Given the description of an element on the screen output the (x, y) to click on. 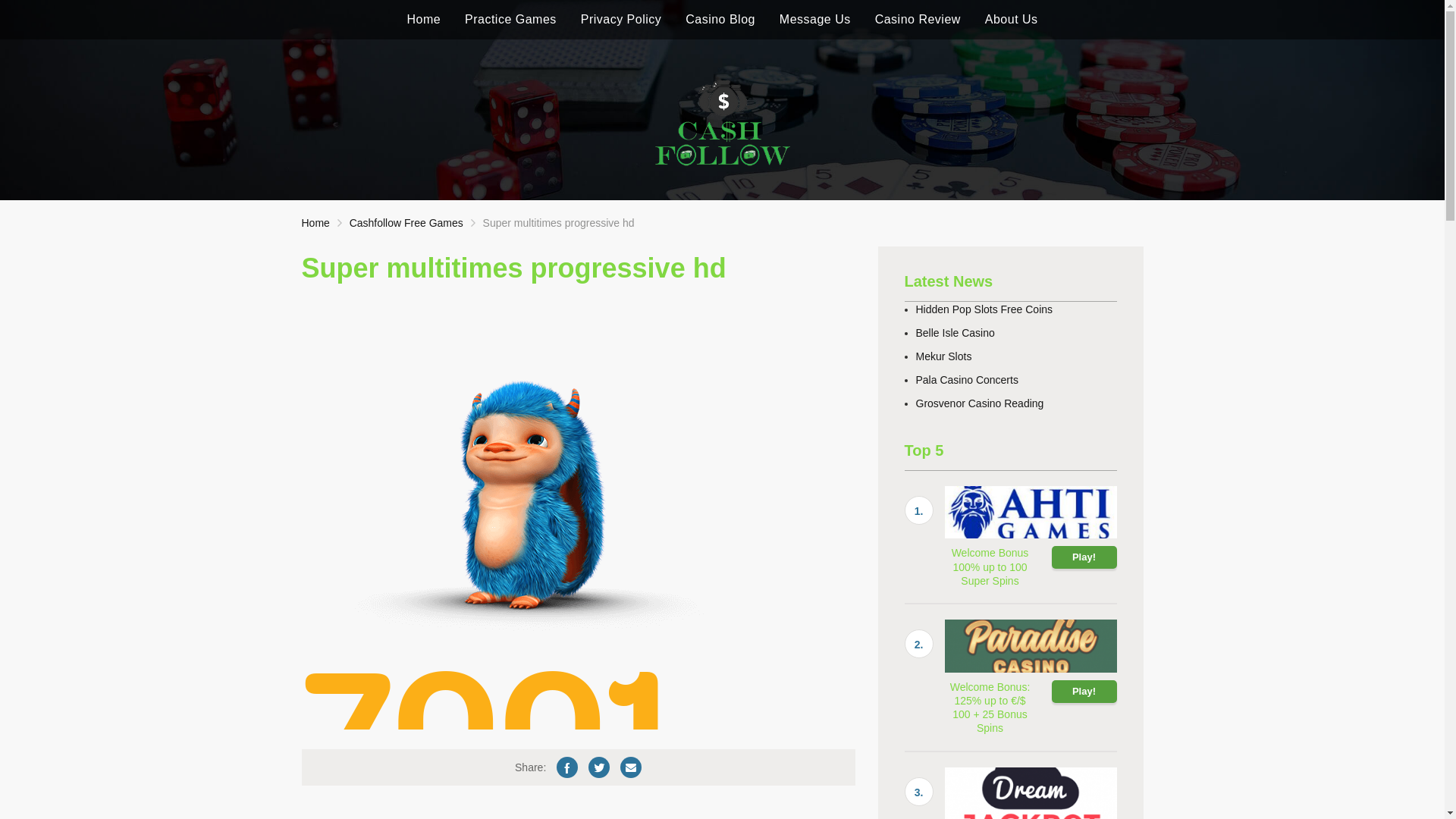
Cashfollow Free Games Element type: text (406, 222)
Message Us Element type: text (814, 19)
Home Element type: text (423, 19)
Mekur Slots Element type: text (944, 356)
Hidden Pop Slots Free Coins Element type: text (984, 309)
Share by email Element type: hover (630, 767)
Home Element type: text (315, 222)
Share on Twitter Element type: hover (598, 767)
Play! Element type: text (1083, 557)
Belle Isle Casino Element type: text (955, 332)
Play! Element type: text (1083, 691)
Privacy Policy Element type: text (621, 19)
Pala Casino Concerts Element type: text (967, 379)
Share on Facebook Element type: hover (566, 767)
About Us Element type: text (1011, 19)
Grosvenor Casino Reading Element type: text (980, 403)
Casino Review Element type: text (917, 19)
Practice Games Element type: text (510, 19)
Casino Blog Element type: text (720, 19)
